Given the description of an element on the screen output the (x, y) to click on. 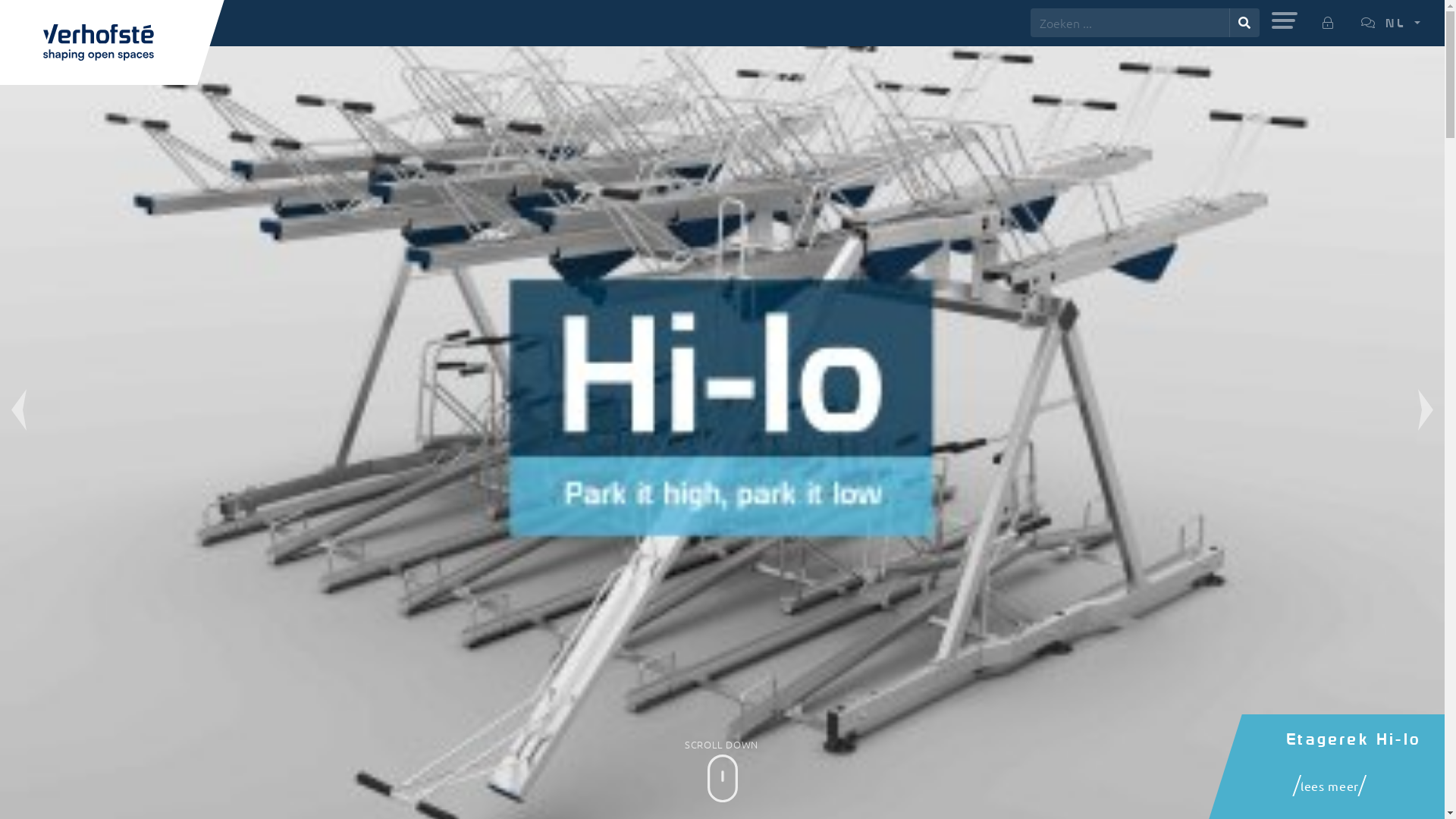
MENU Element type: text (1284, 20)
  NL Element type: text (1390, 23)
lees meer Element type: text (1329, 781)
SCROLL DOWN Element type: text (722, 776)
